Given the description of an element on the screen output the (x, y) to click on. 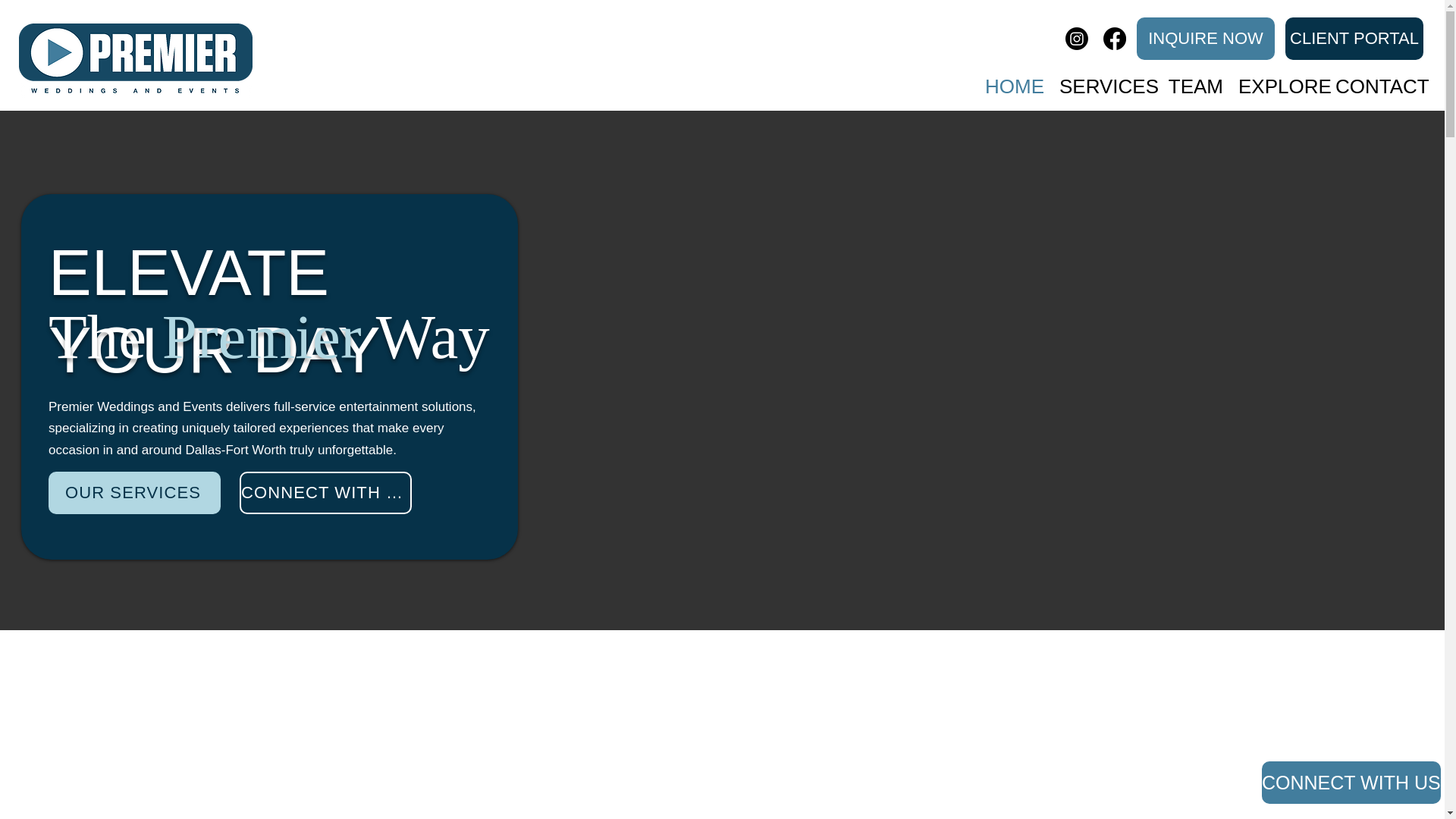
CONNECT WITH US (1351, 782)
INQUIRE NOW (1206, 38)
HOME (1013, 79)
CLIENT PORTAL (1354, 38)
CONTACT (1377, 79)
OUR SERVICES (134, 492)
TEAM (1193, 79)
CONNECT WITH US (326, 492)
